Given the description of an element on the screen output the (x, y) to click on. 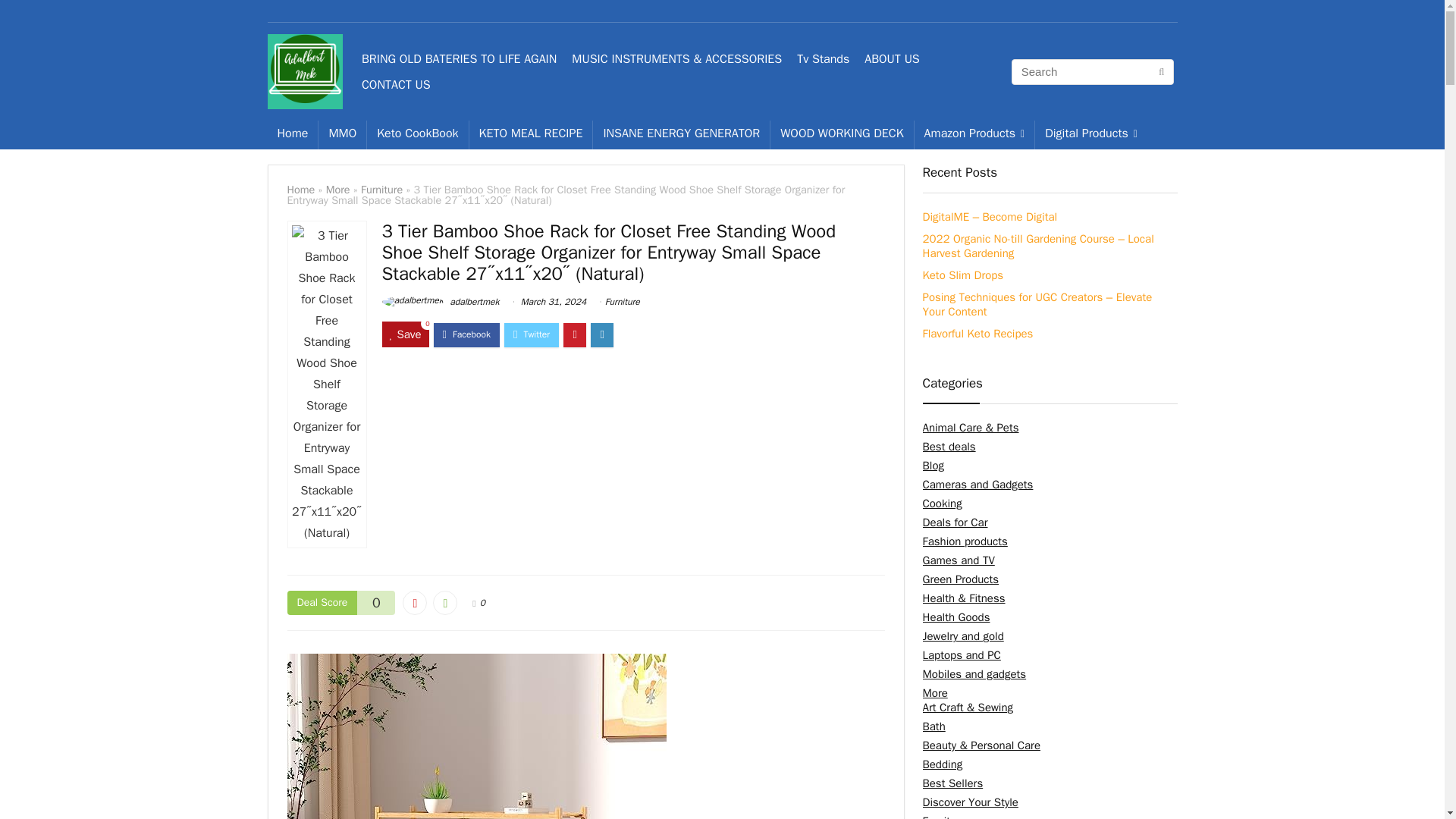
Digital Products (1091, 134)
Tv Stands (822, 58)
INSANE ENERGY GENERATOR (681, 134)
adalbertmek (440, 301)
Home (300, 189)
More (338, 189)
WOOD WORKING DECK (841, 134)
Home (291, 134)
Furniture (382, 189)
ABOUT US (892, 58)
